Given the description of an element on the screen output the (x, y) to click on. 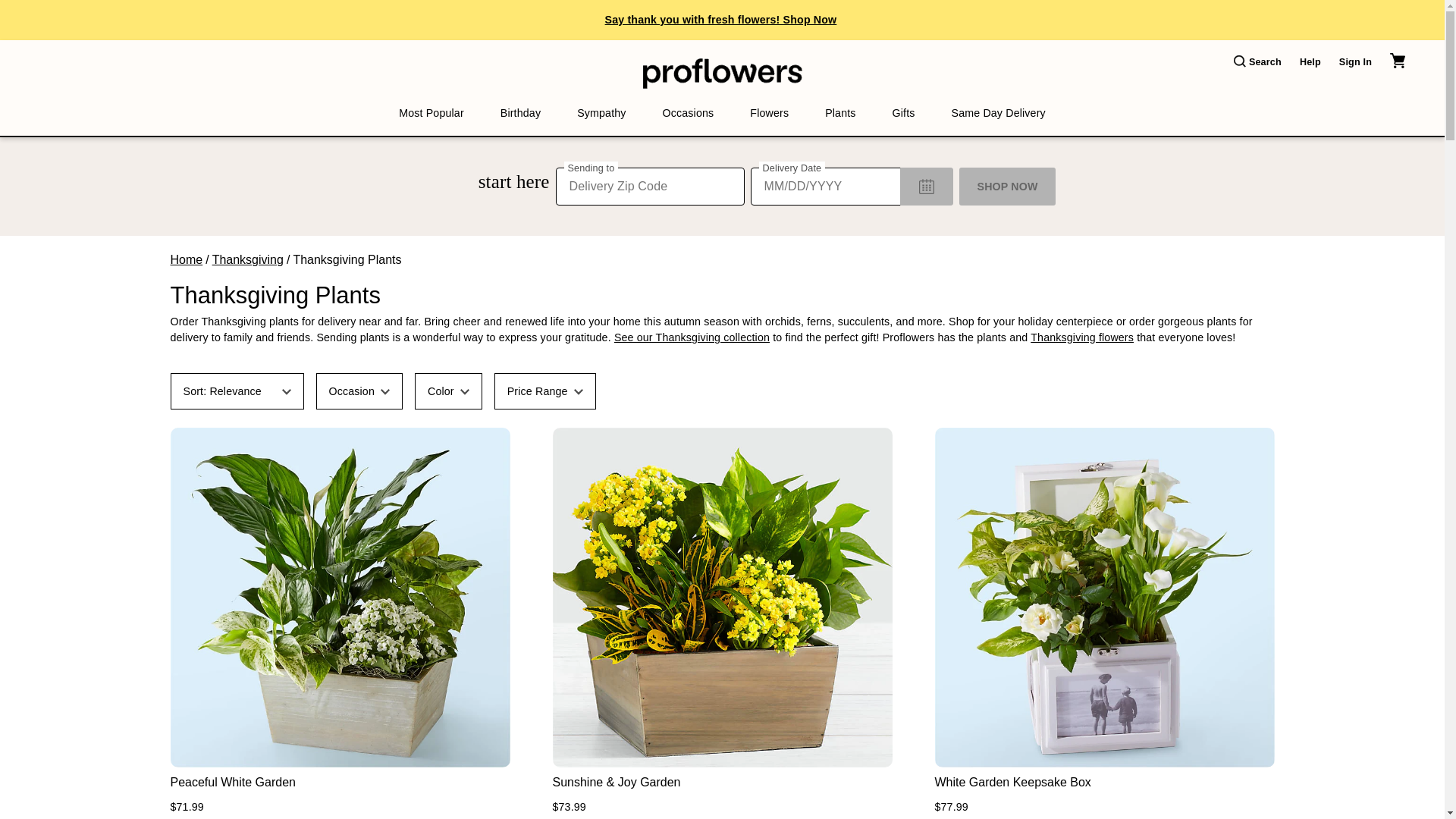
Help (1310, 62)
Search (1257, 62)
Say thank you with fresh flowers! Shop Now (721, 19)
Sign In (1355, 62)
Most Popular (430, 112)
Birthday (520, 112)
